Given the description of an element on the screen output the (x, y) to click on. 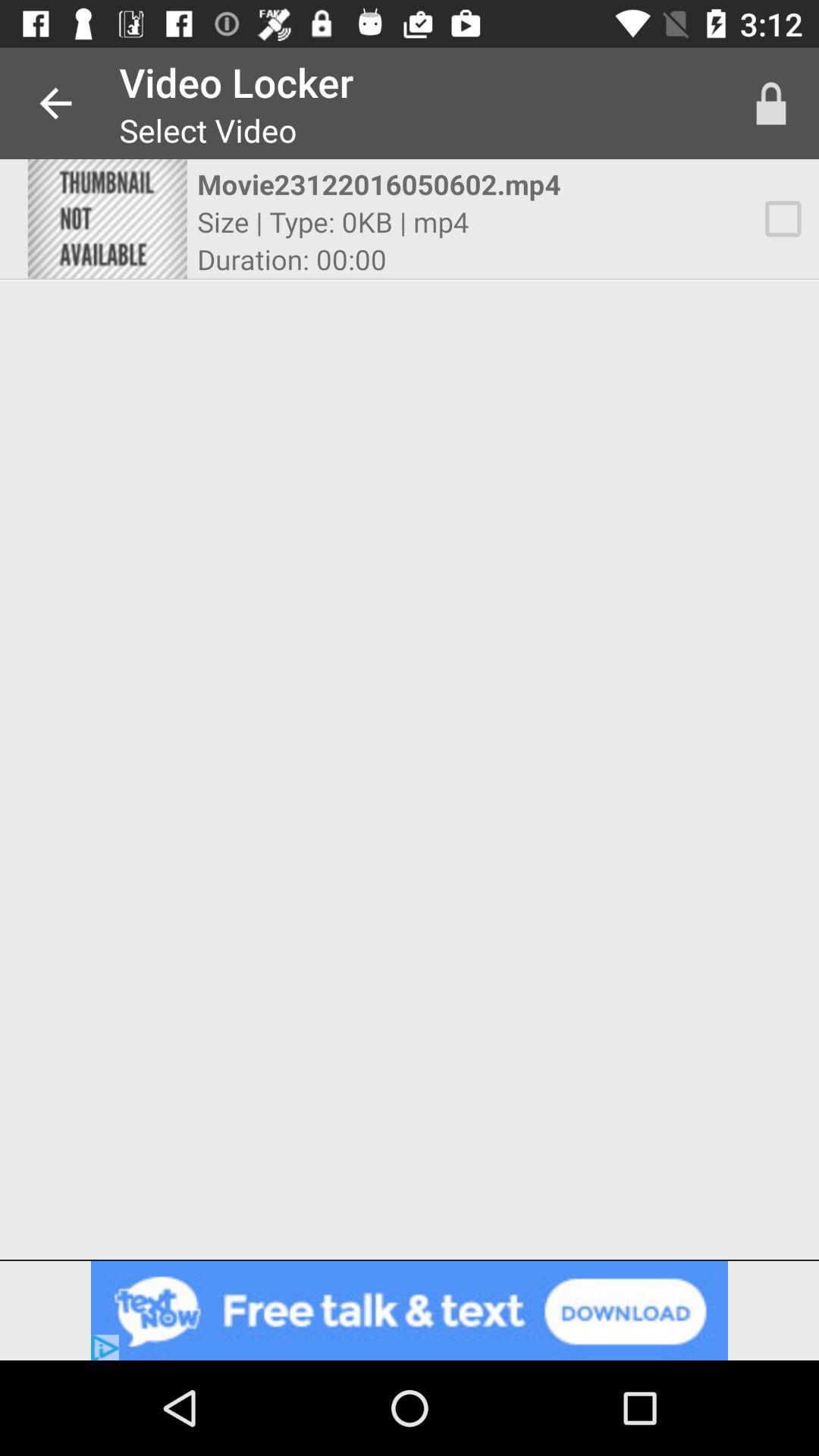
scroll to movie23122016050602.mp4 icon (396, 184)
